Given the description of an element on the screen output the (x, y) to click on. 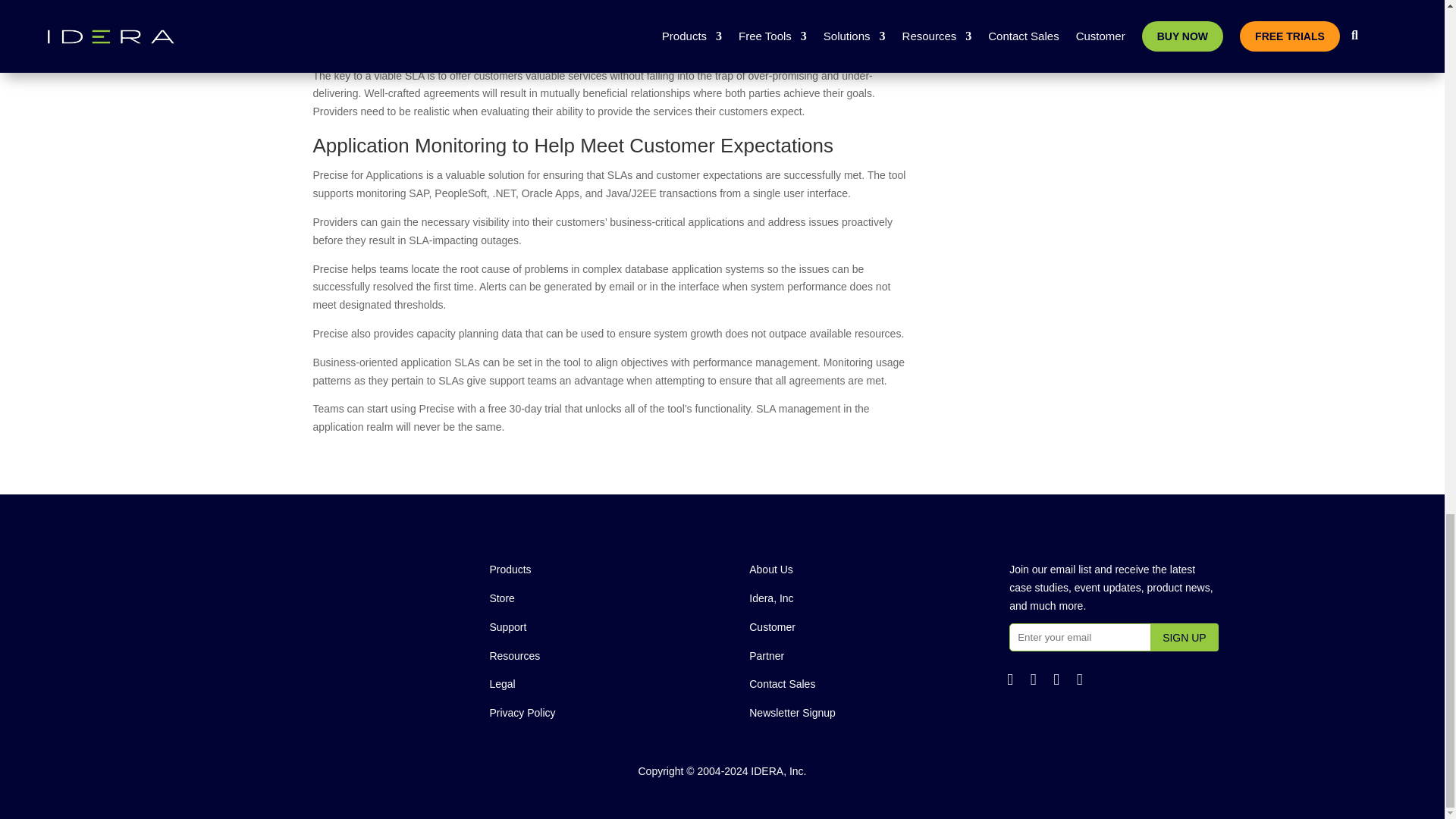
Idera-Logo (331, 562)
Sign up (1184, 637)
